Given the description of an element on the screen output the (x, y) to click on. 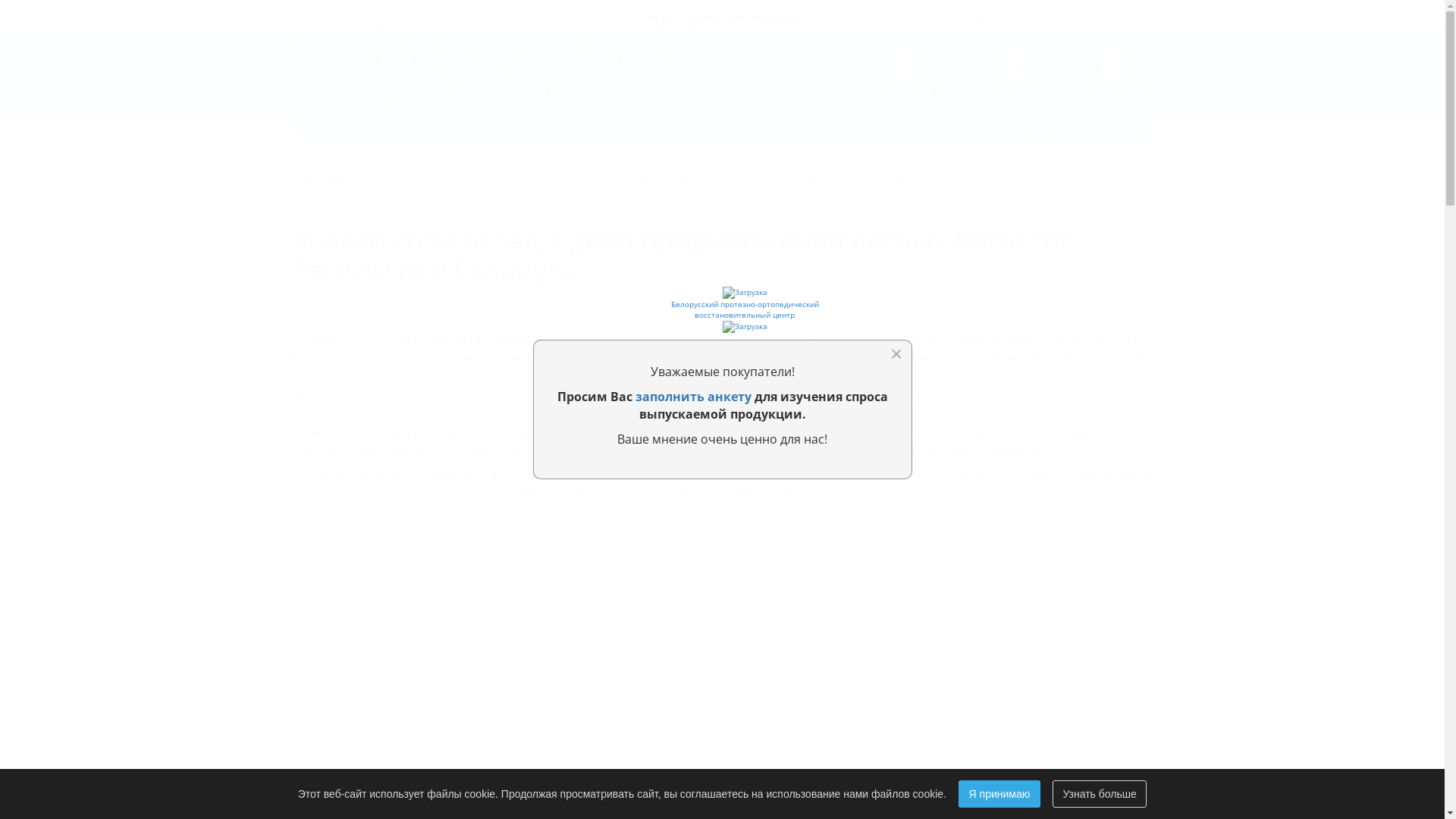
Belarusian Element type: hover (1426, 375)
Russian Element type: hover (1426, 345)
